Given the description of an element on the screen output the (x, y) to click on. 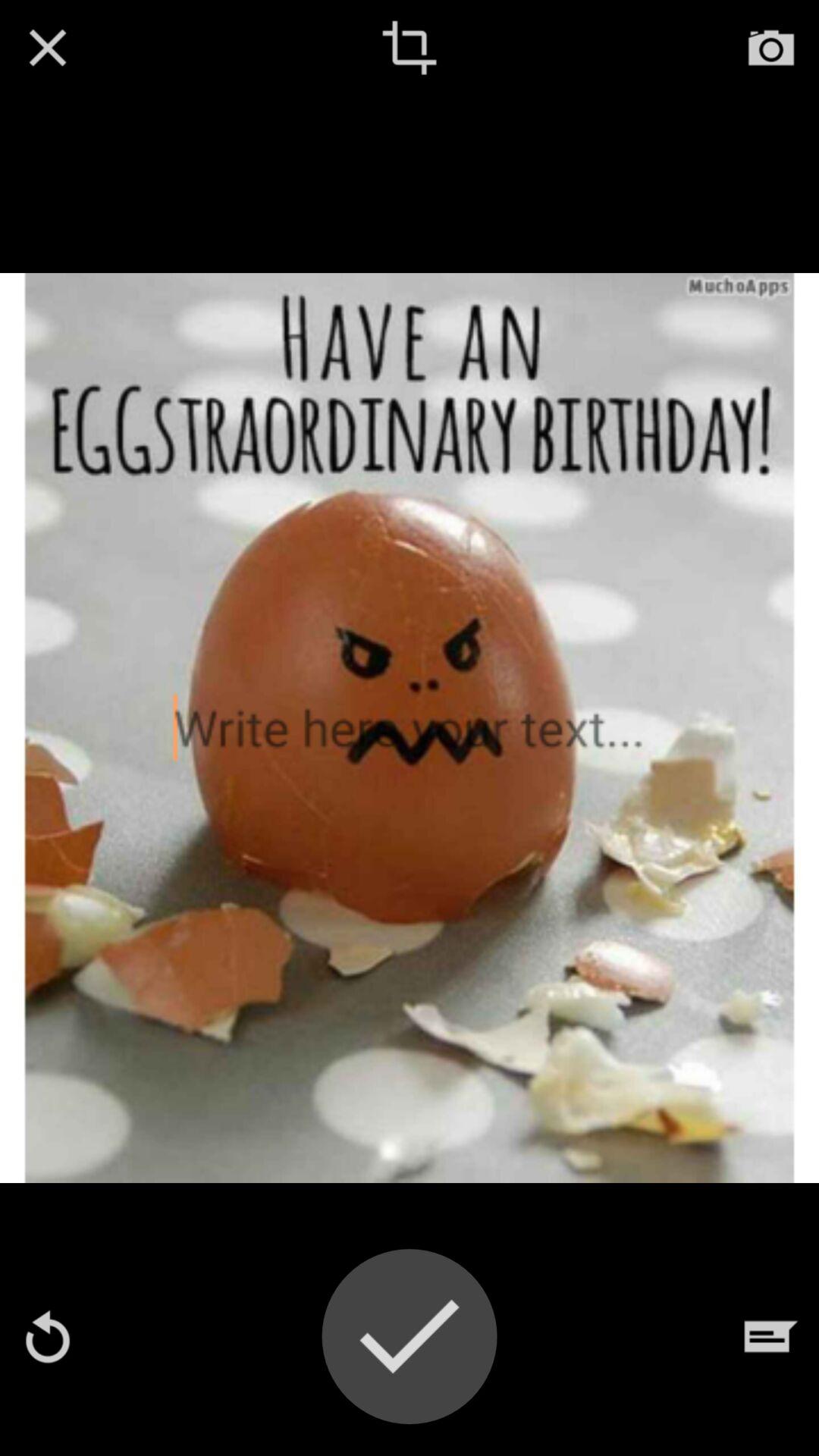
save changes (409, 1336)
